Given the description of an element on the screen output the (x, y) to click on. 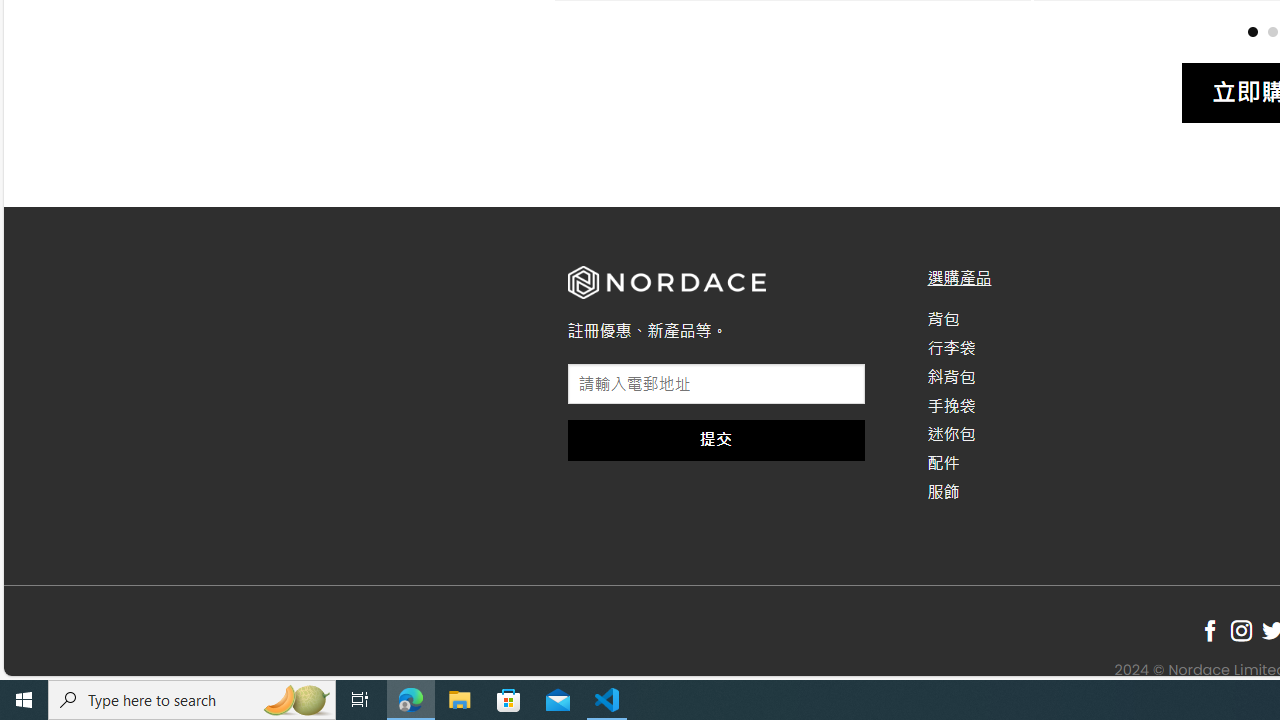
Follow on Facebook (1210, 631)
AutomationID: input_4_1 (716, 384)
